Given the description of an element on the screen output the (x, y) to click on. 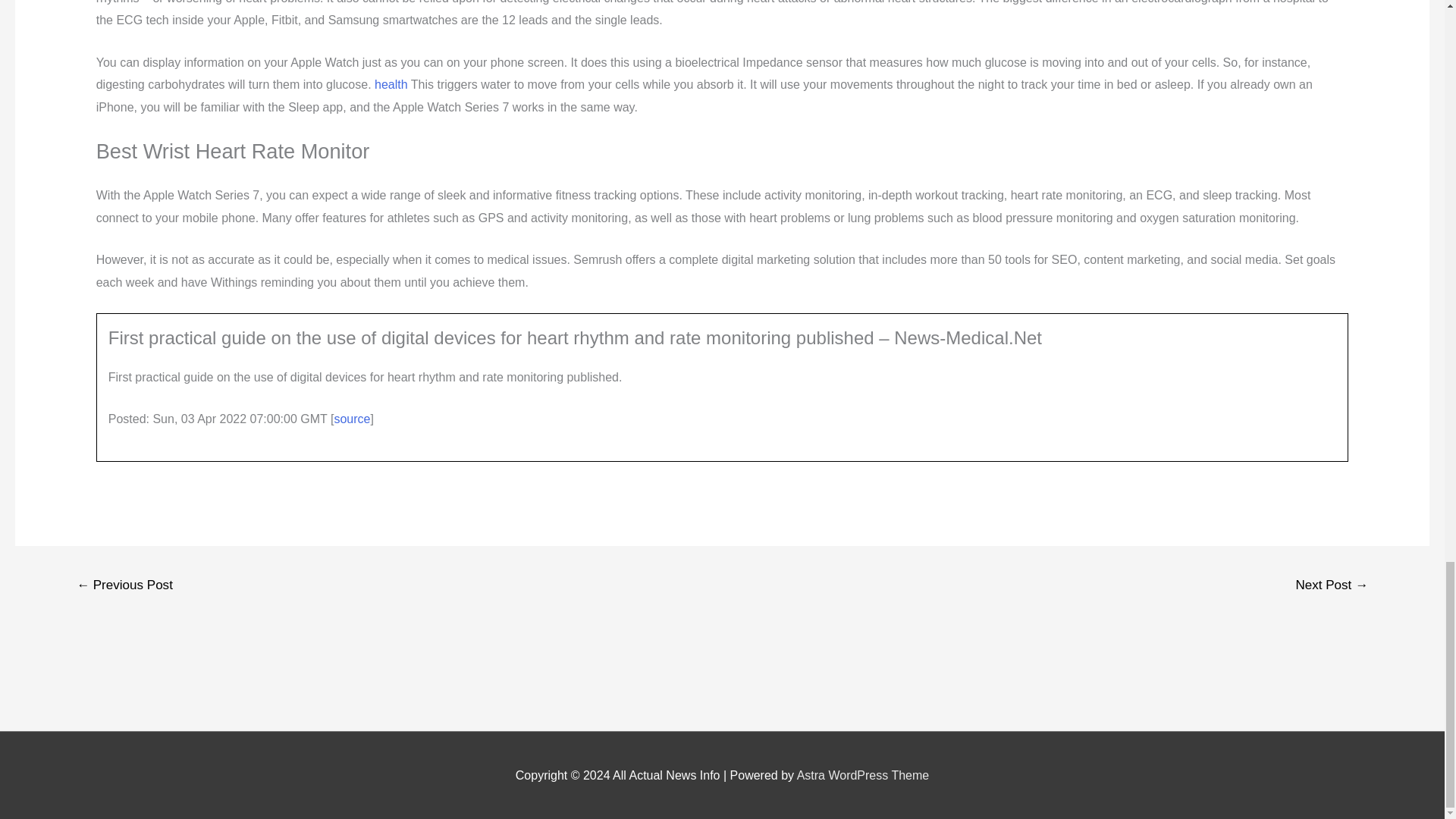
health (390, 83)
Astra WordPress Theme (863, 775)
source (351, 418)
